Given the description of an element on the screen output the (x, y) to click on. 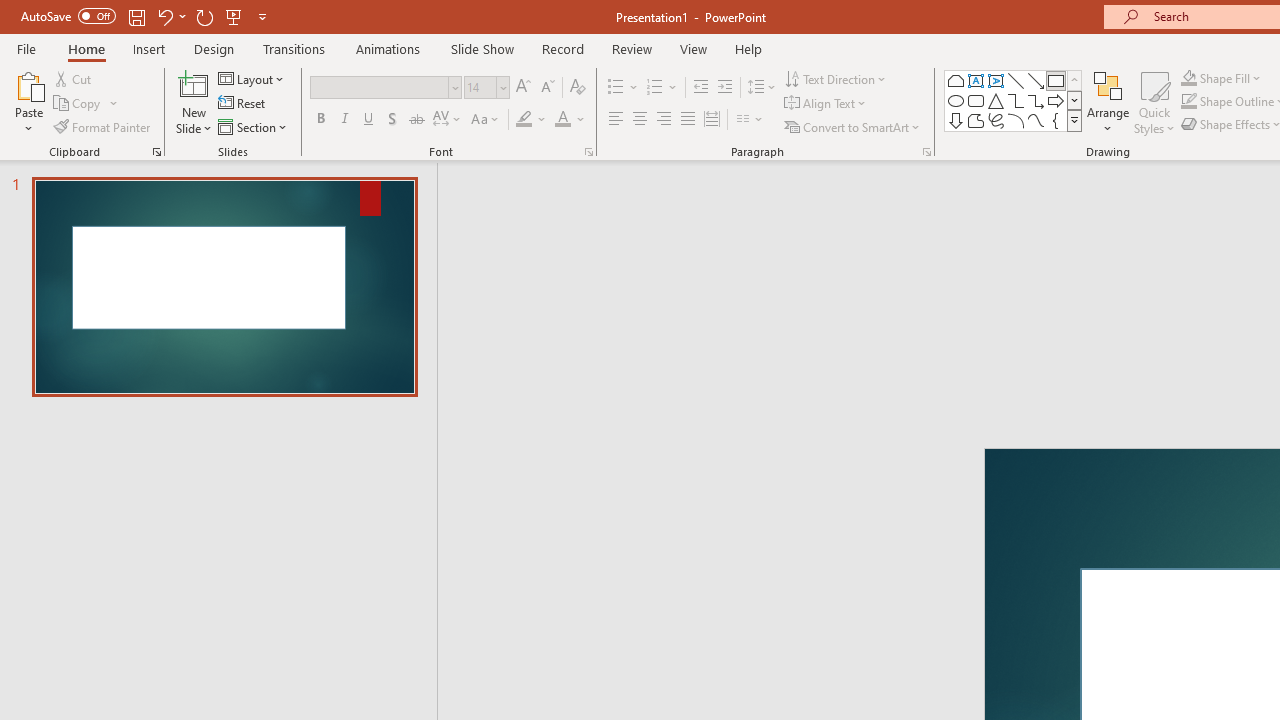
Rectangle: Top Corners Snipped (955, 80)
